Given the description of an element on the screen output the (x, y) to click on. 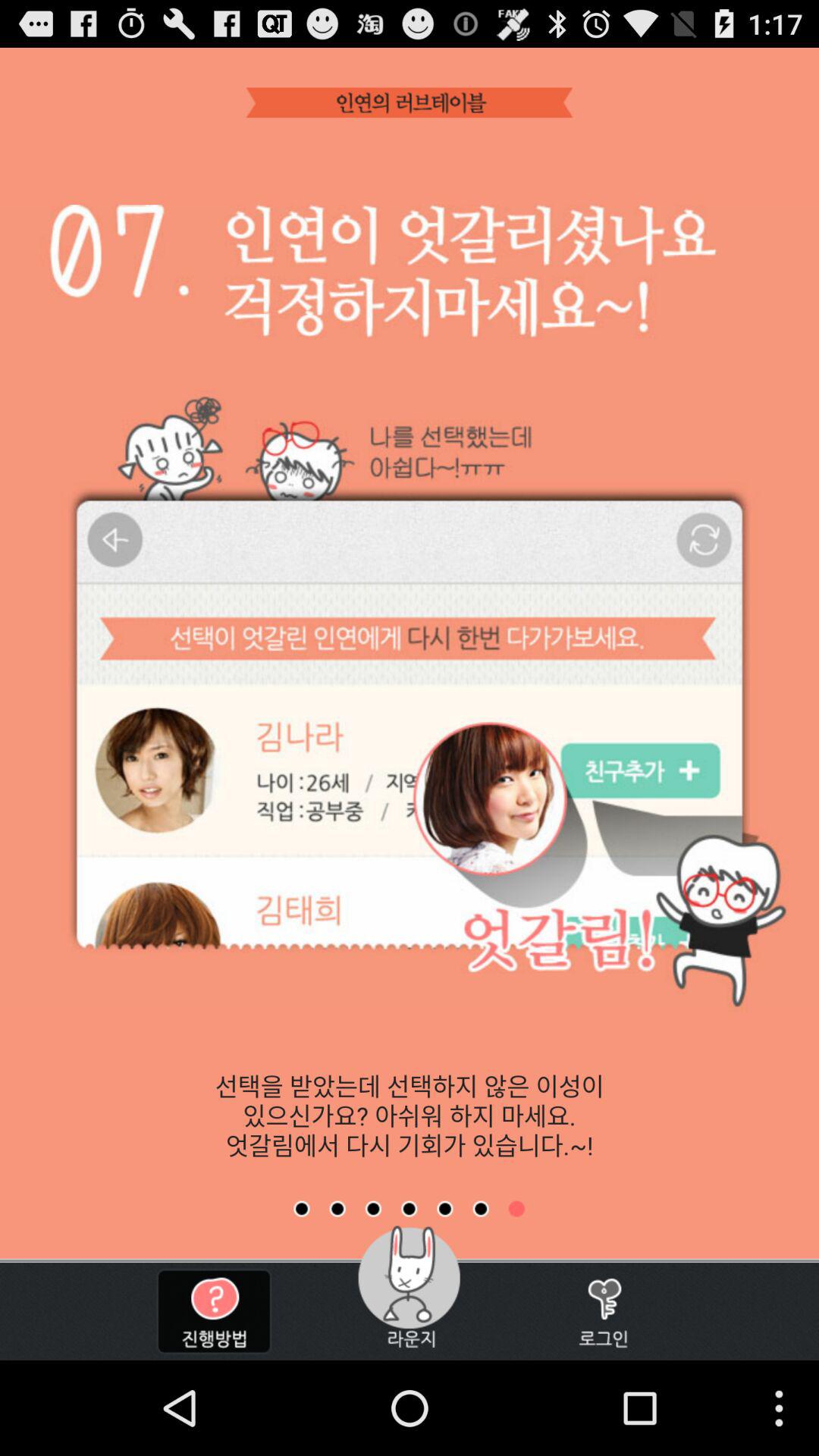
view first image (301, 1208)
